Given the description of an element on the screen output the (x, y) to click on. 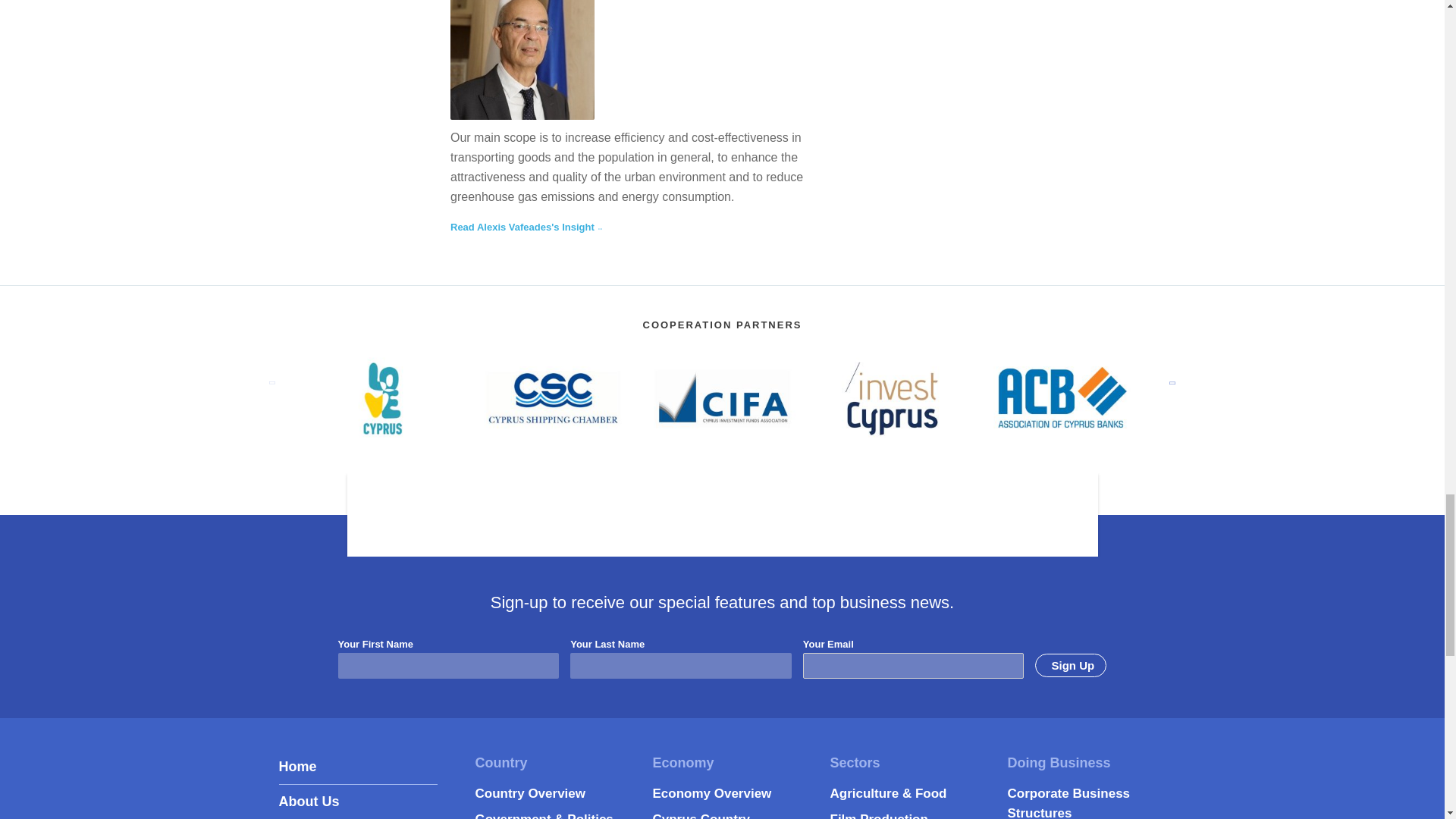
Sign Up (1070, 665)
